Given the description of an element on the screen output the (x, y) to click on. 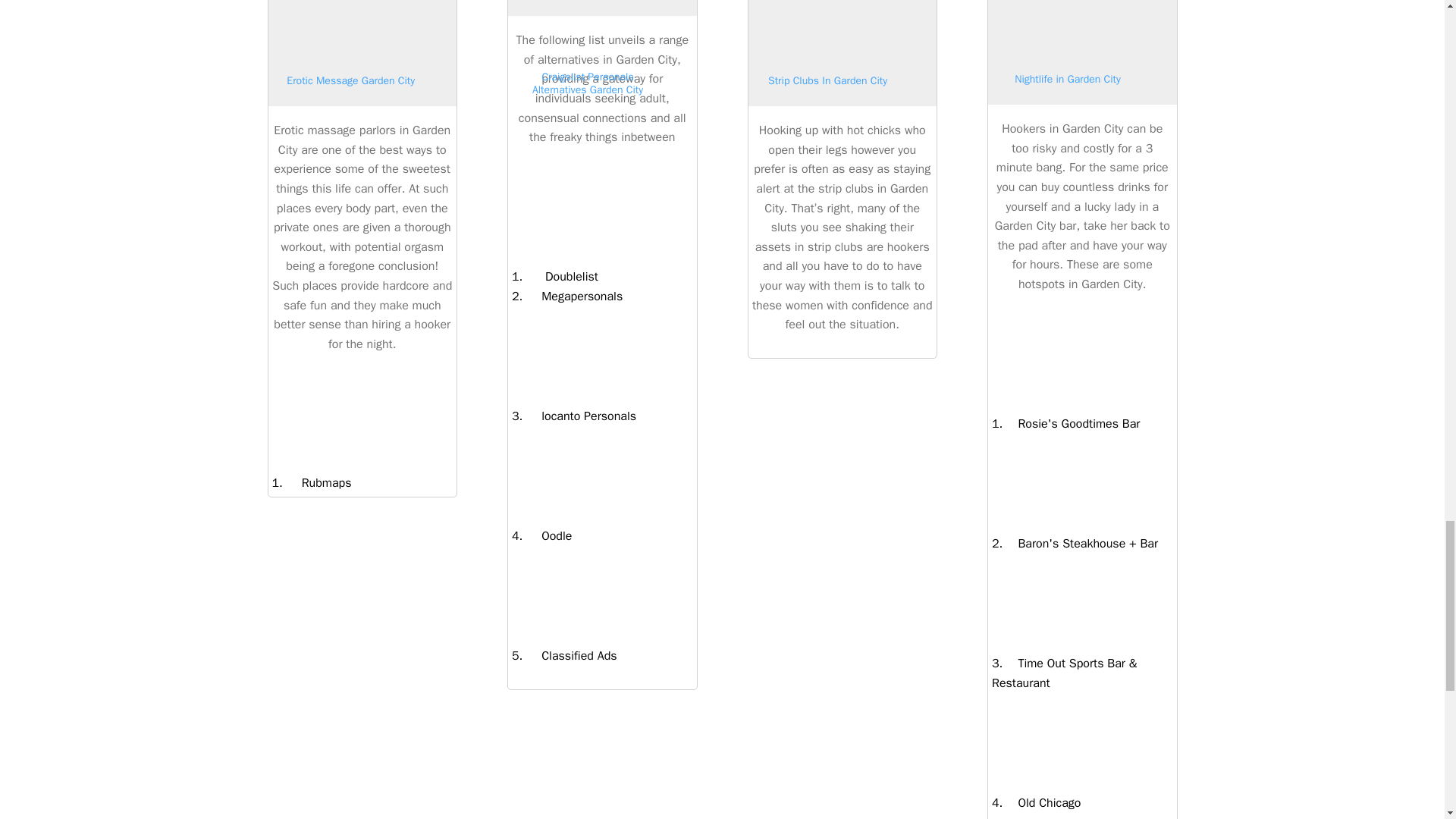
locanto Personals (579, 416)
Classified Ads (568, 655)
Megapersonals (572, 296)
Doublelist (560, 276)
Rubmaps (317, 482)
Rosie's Goodtimes Bar (1071, 422)
Old Chicago (1041, 801)
Oodle (547, 535)
